Given the description of an element on the screen output the (x, y) to click on. 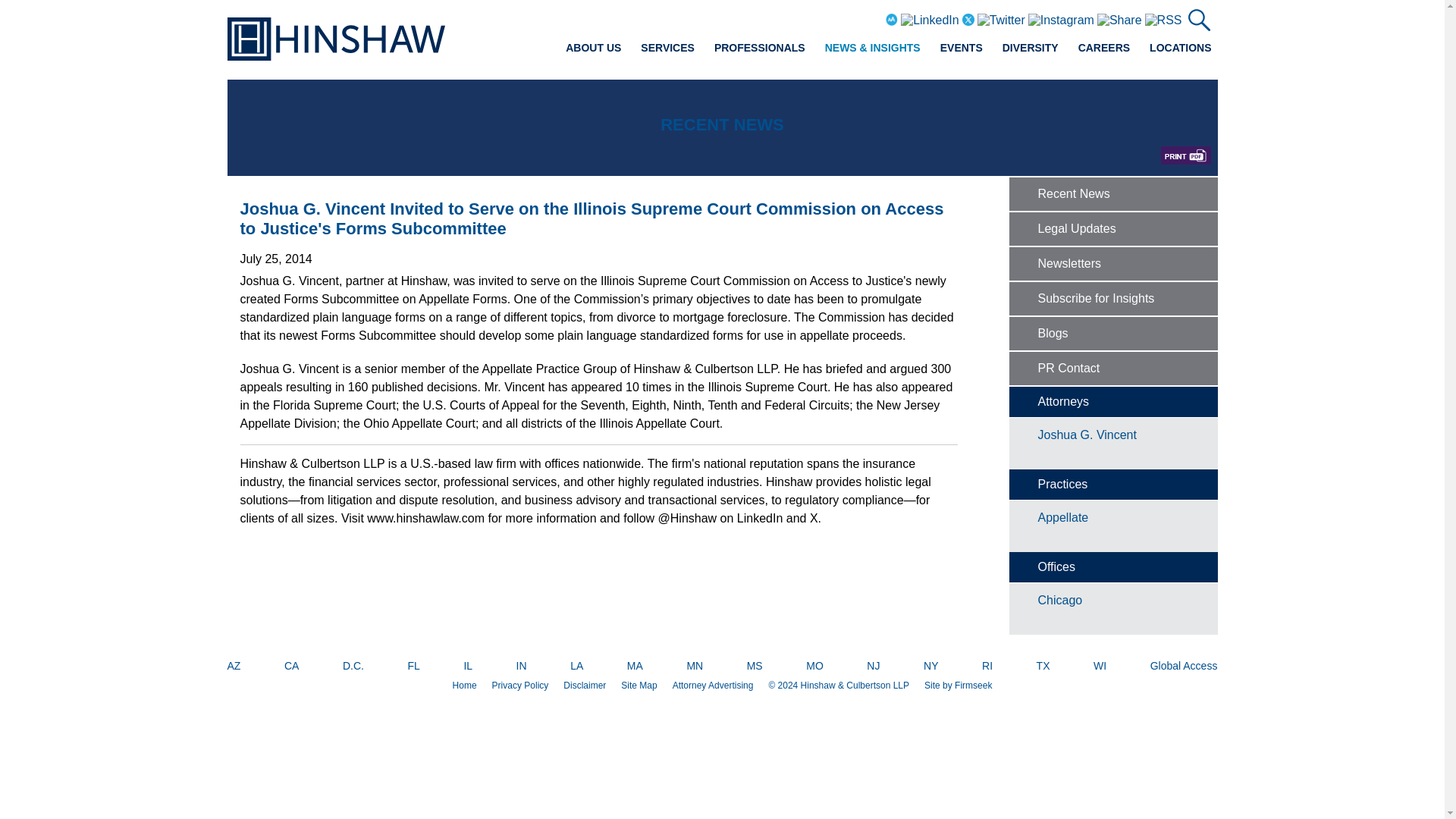
ABOUT US (593, 47)
PROFESSIONALS (759, 47)
Main Menu (680, 16)
SERVICES (667, 47)
Menu (680, 16)
Main Content (674, 16)
